Given the description of an element on the screen output the (x, y) to click on. 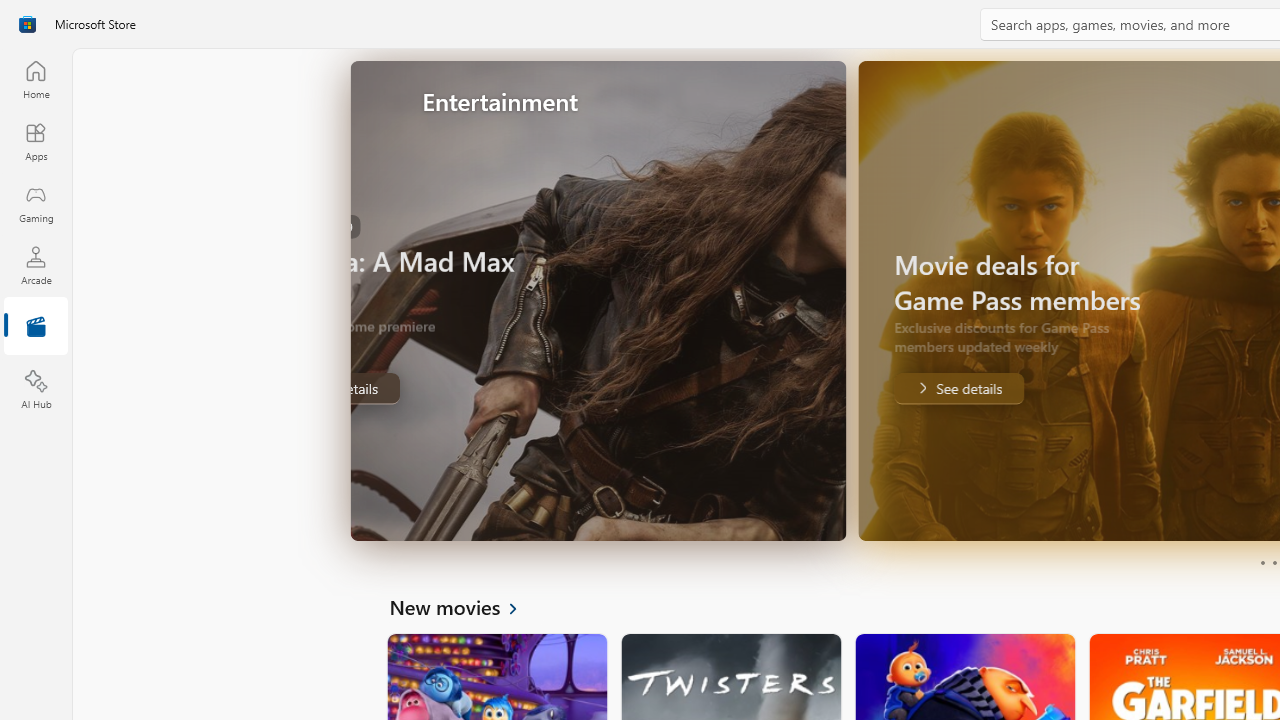
Page 2 (1274, 562)
AutomationID: Image (815, 300)
Page 1 (1261, 562)
See all  New movies (464, 606)
